Given the description of an element on the screen output the (x, y) to click on. 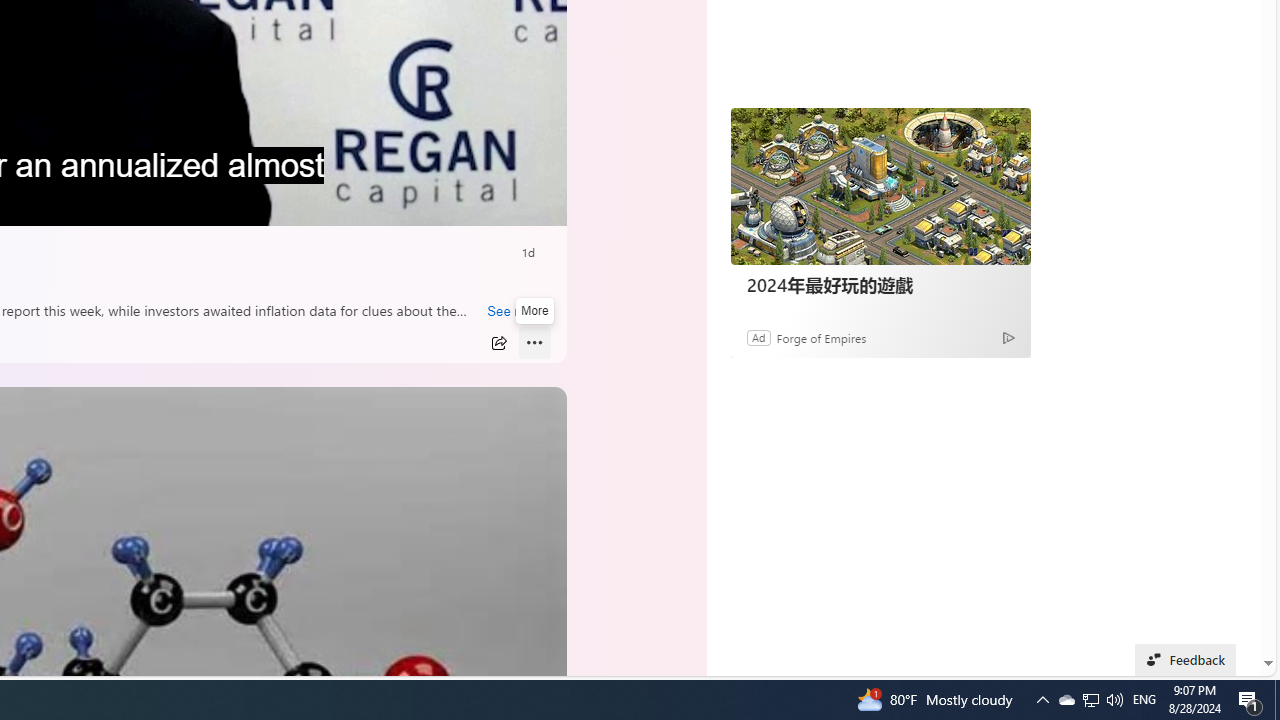
Unmute (535, 203)
Captions (457, 203)
Fullscreen (497, 203)
Share (498, 343)
Forge of Empires (820, 337)
Quality Settings (418, 203)
Share (498, 343)
